Given the description of an element on the screen output the (x, y) to click on. 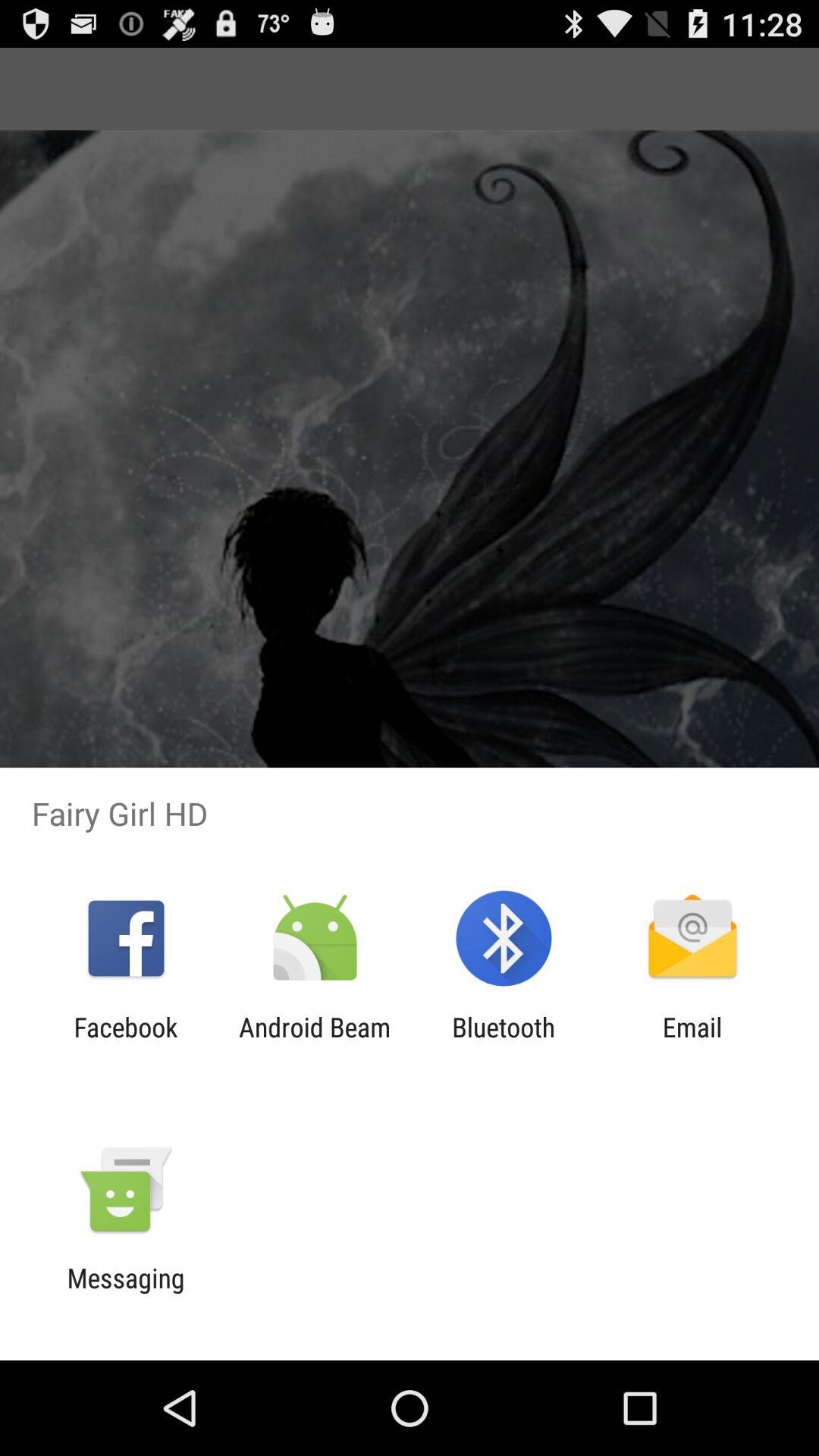
click the item next to the android beam item (125, 1042)
